Given the description of an element on the screen output the (x, y) to click on. 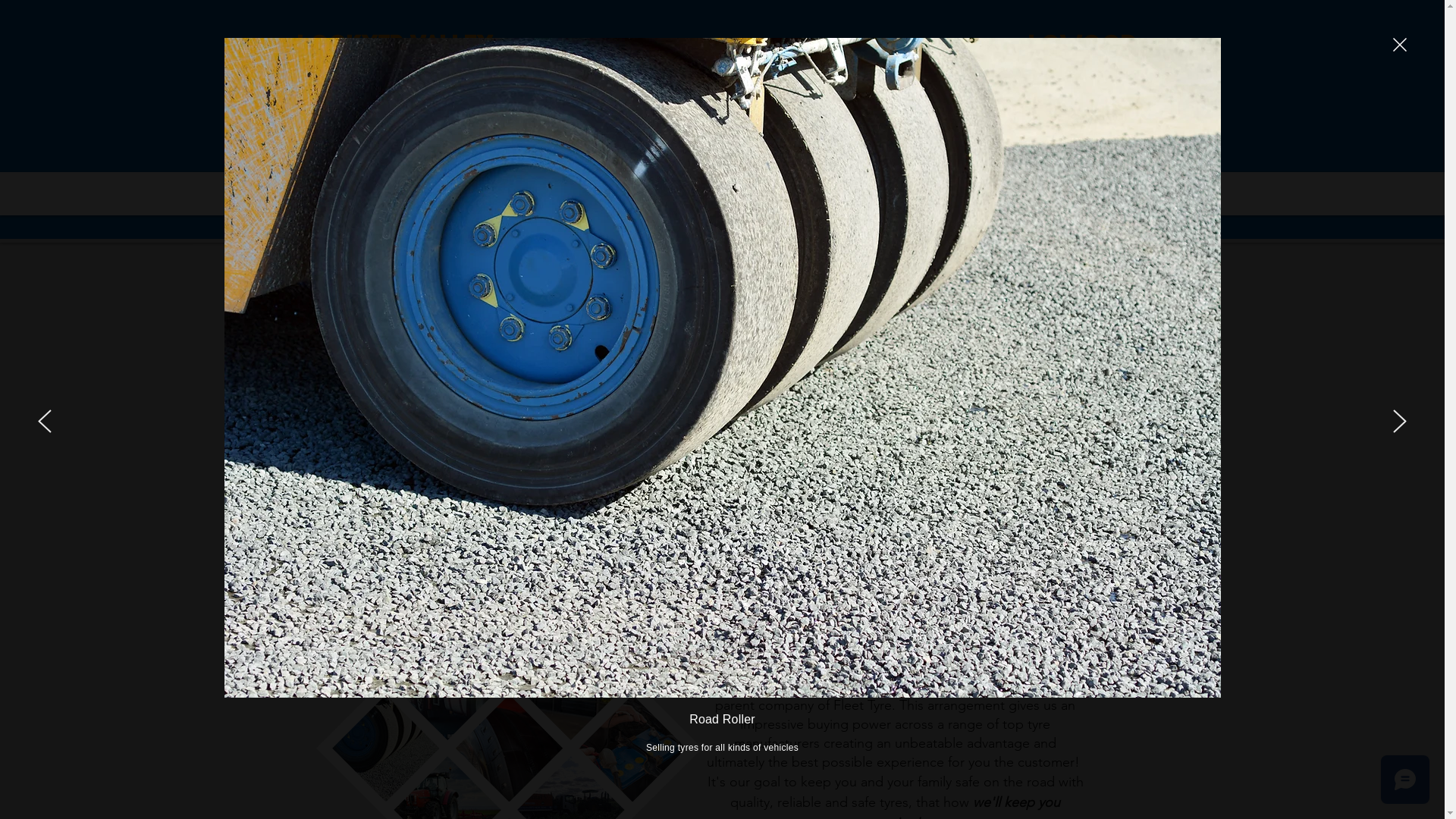
07 5426 1854 Element type: text (1082, 120)
ABOUT US Element type: text (447, 192)
CONTACT US Element type: text (1133, 192)
HOME Element type: text (310, 192)
LOWOOD Element type: text (859, 192)
LOCKYER Element type: text (721, 192)
SERVICES Element type: text (584, 192)
MAKING TRACKS Element type: text (996, 192)
07 5462 4783 Element type: text (393, 120)
